Given the description of an element on the screen output the (x, y) to click on. 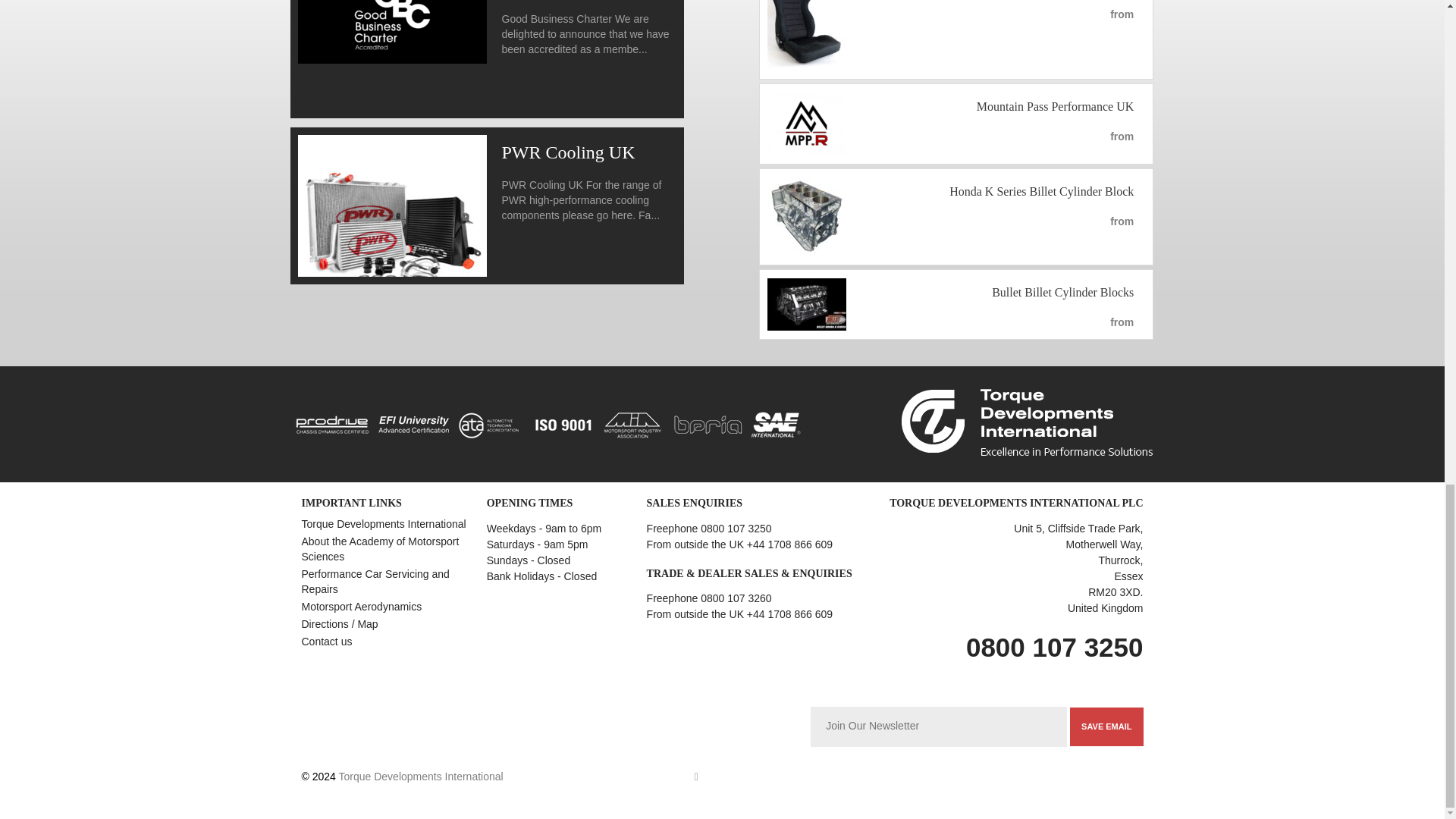
save email (1106, 726)
Torque Developments International (419, 776)
